Given the description of an element on the screen output the (x, y) to click on. 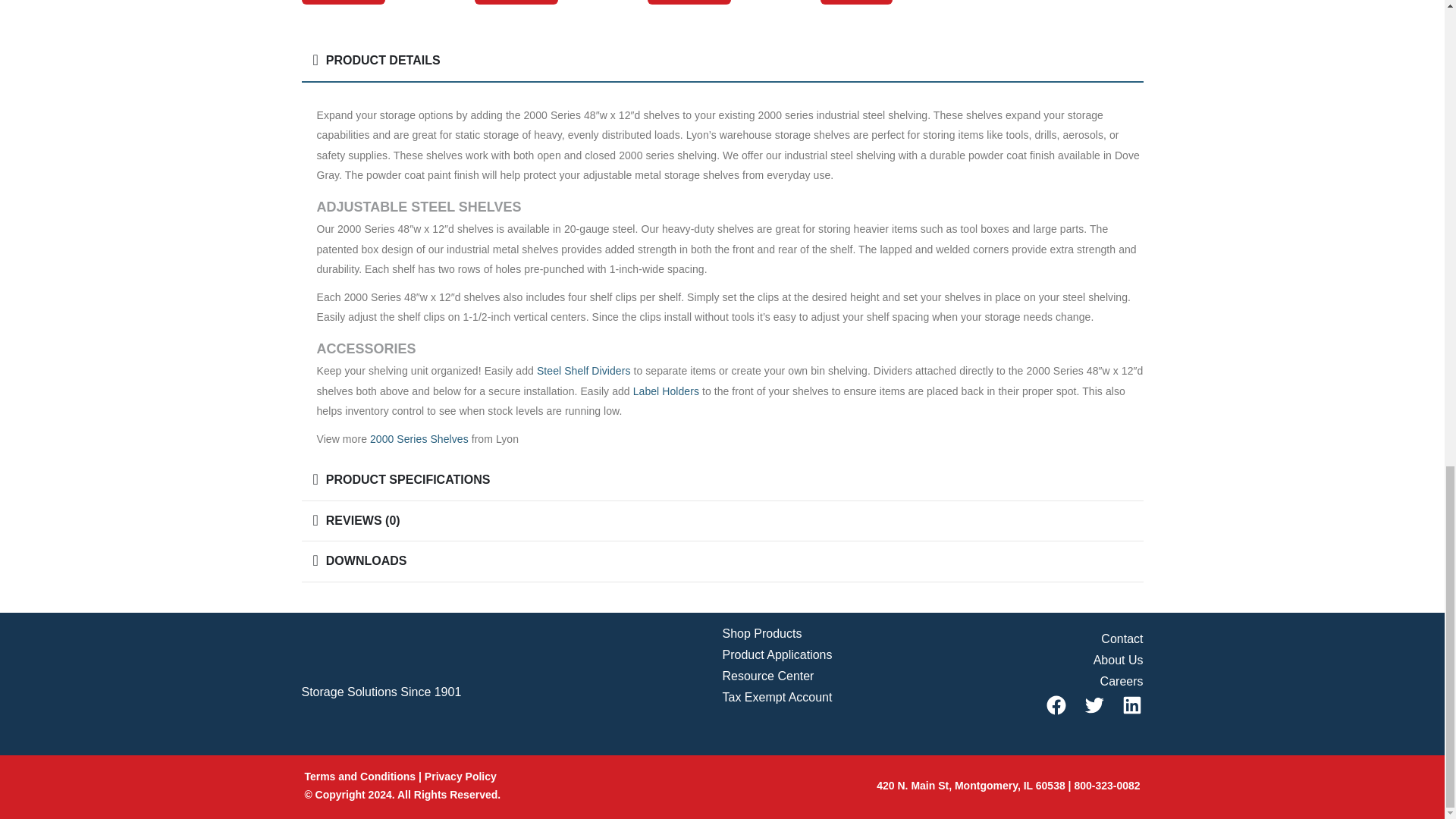
Lyon LLC (357, 659)
